Given the description of an element on the screen output the (x, y) to click on. 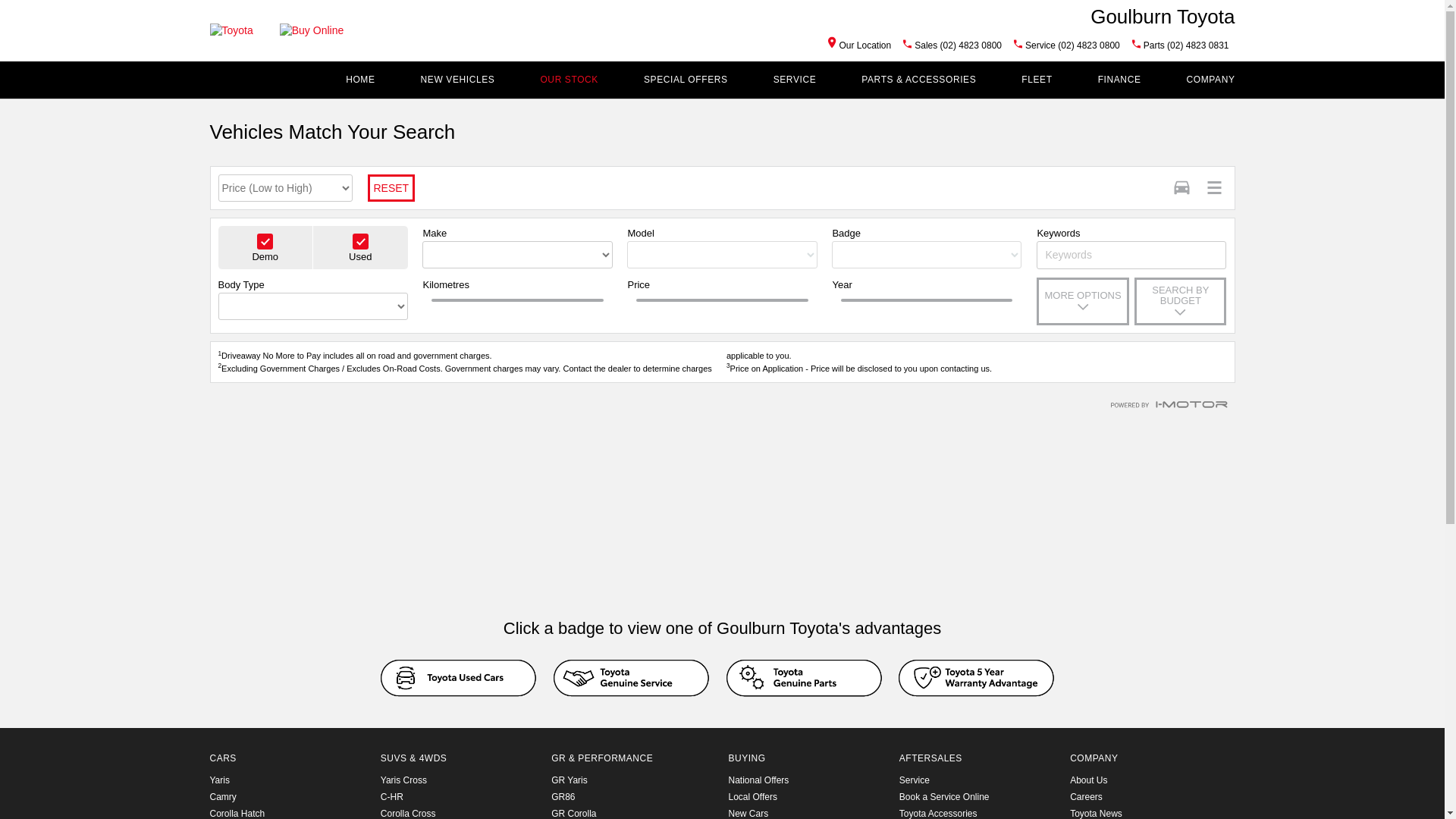
RESET Element type: text (390, 188)
OUR STOCK Element type: text (568, 80)
National Offers Element type: text (807, 779)
GR86 Element type: text (562, 796)
Careers Element type: text (1149, 796)
Service Element type: text (978, 779)
Local Offers Element type: text (807, 796)
Book a Service Online Element type: text (978, 796)
GR Yaris Element type: text (569, 779)
Goulburn Toyota Element type: text (1162, 15)
Yaris Cross Element type: text (403, 779)
MORE OPTIONS Element type: text (1082, 301)
Parts (02) 4823 0831 Element type: text (1186, 45)
C-HR Element type: text (391, 796)
SPECIAL OFFERS Element type: text (685, 80)
COMPANY Element type: text (1210, 80)
NEW VEHICLES Element type: text (457, 80)
SEARCH BY BUDGET Element type: text (1180, 301)
Service (02) 4823 0800 Element type: text (1072, 45)
Camry Element type: text (222, 796)
Yaris Element type: text (219, 779)
About Us Element type: text (1149, 779)
HOME Element type: text (359, 80)
Our Location Element type: text (859, 45)
PARTS & ACCESSORIES Element type: text (918, 80)
FINANCE Element type: text (1119, 80)
SERVICE Element type: text (794, 80)
Sales (02) 4823 0800 Element type: text (957, 45)
FLEET Element type: text (1036, 80)
